Given the description of an element on the screen output the (x, y) to click on. 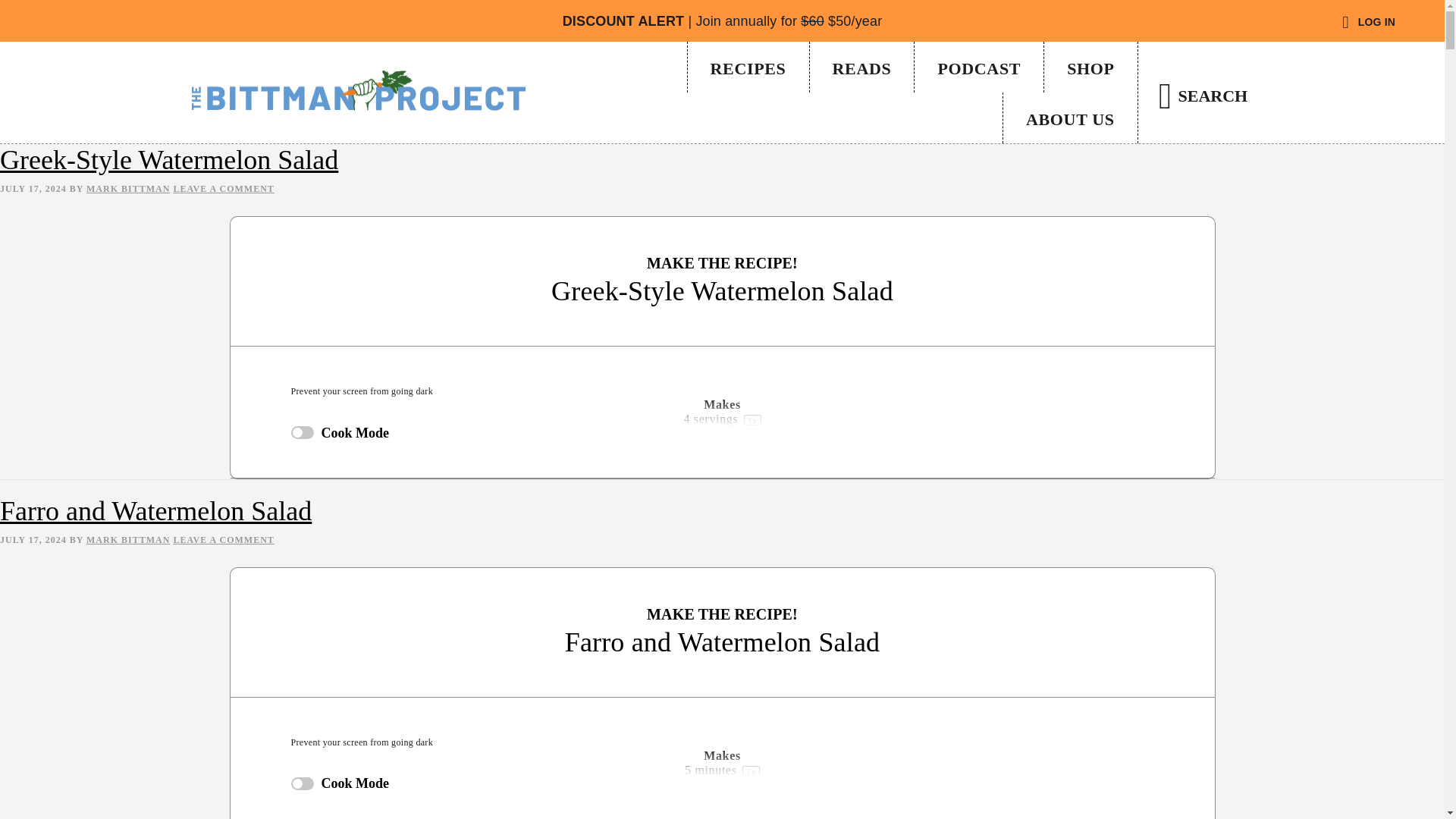
LOG IN (1368, 22)
RECIPES (748, 66)
bittman-logo (357, 90)
